Given the description of an element on the screen output the (x, y) to click on. 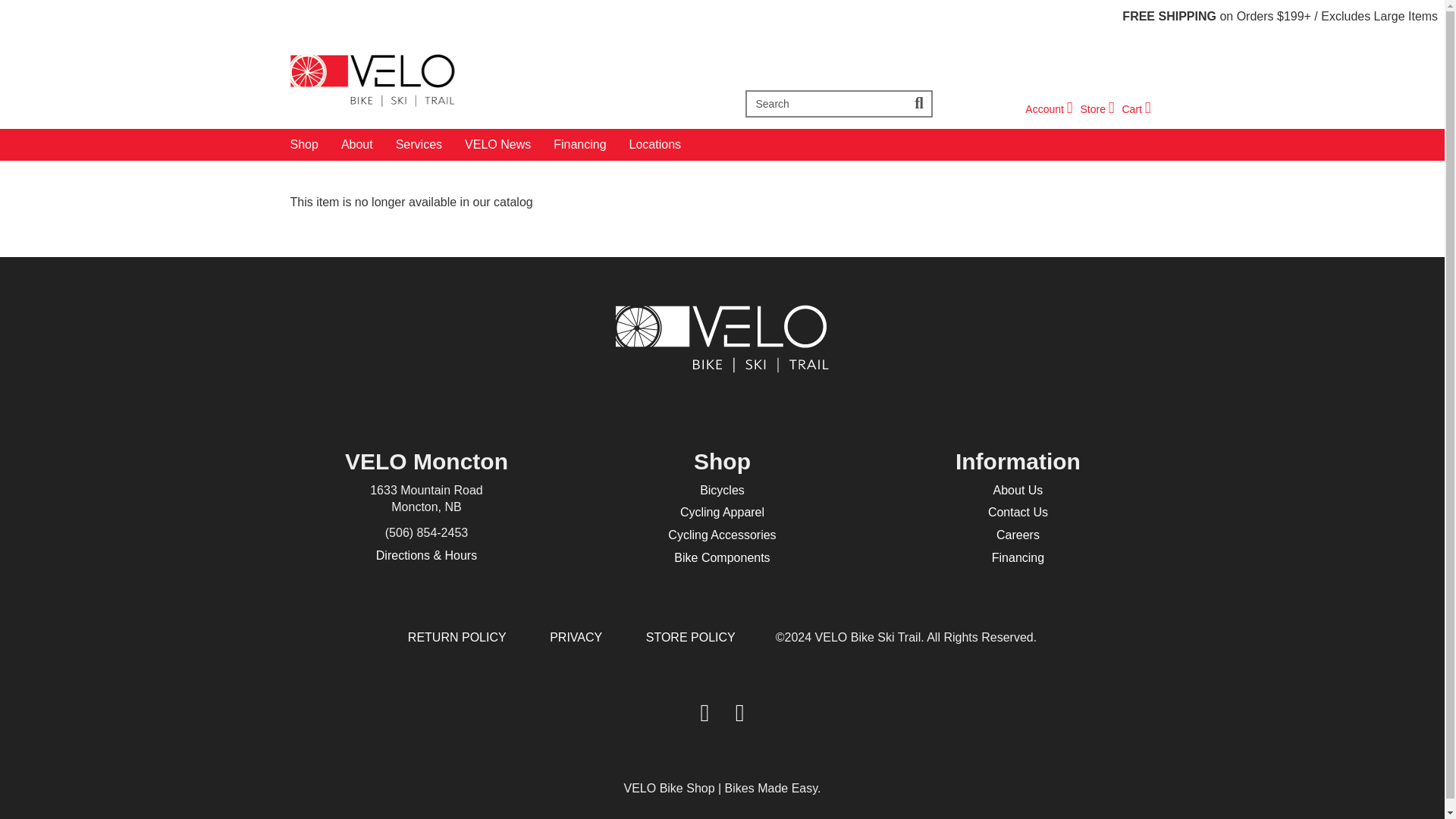
Account (1135, 109)
Store (1048, 109)
Cart (1096, 109)
Search (1048, 109)
Search (1096, 109)
Shop (1135, 109)
VELO Bike Ski Trail Home Page (920, 103)
